Given the description of an element on the screen output the (x, y) to click on. 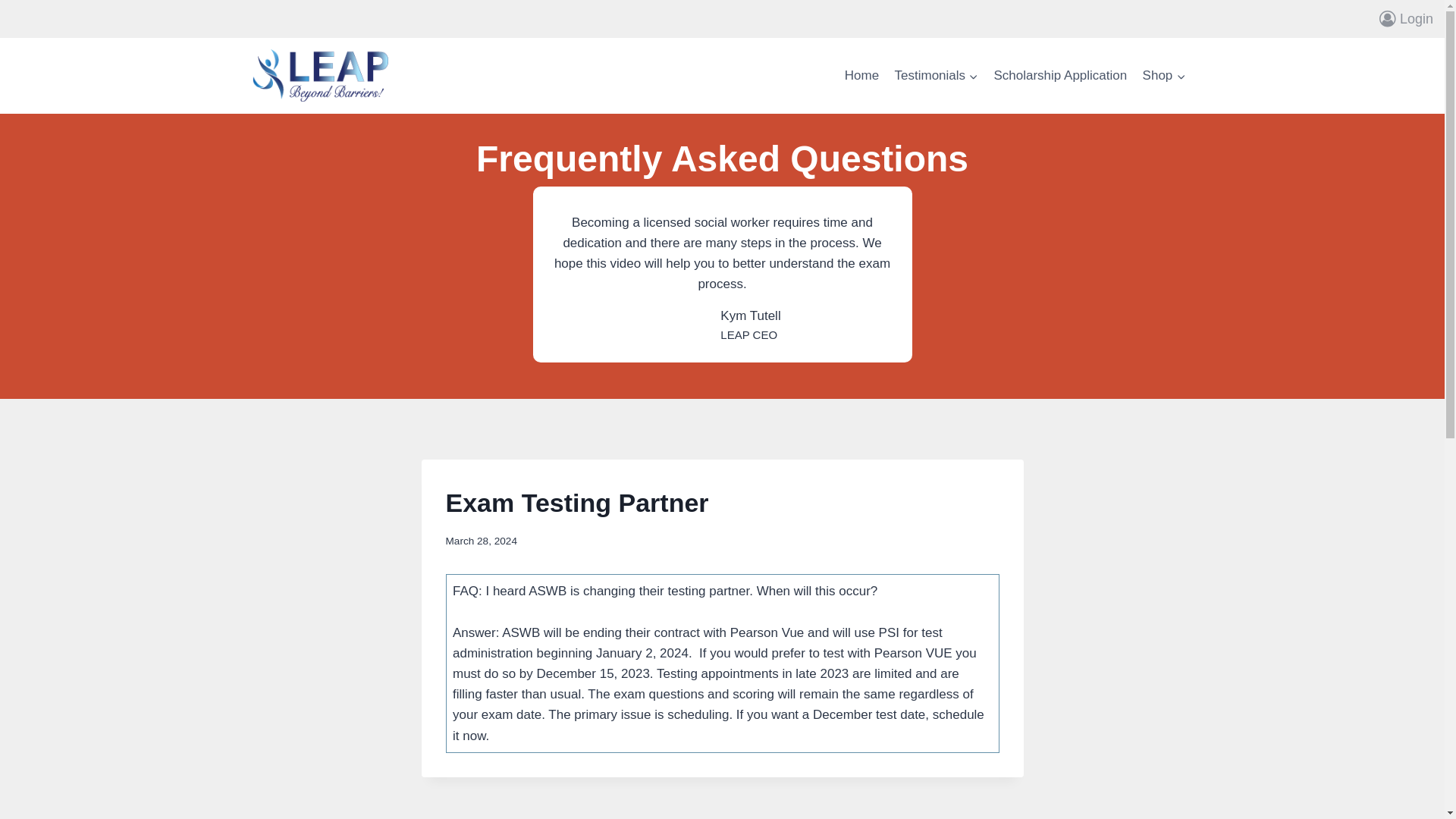
Testimonials (935, 75)
Scholarship Application (1059, 75)
Shop (1163, 75)
Login (1405, 18)
Home (861, 75)
